Given the description of an element on the screen output the (x, y) to click on. 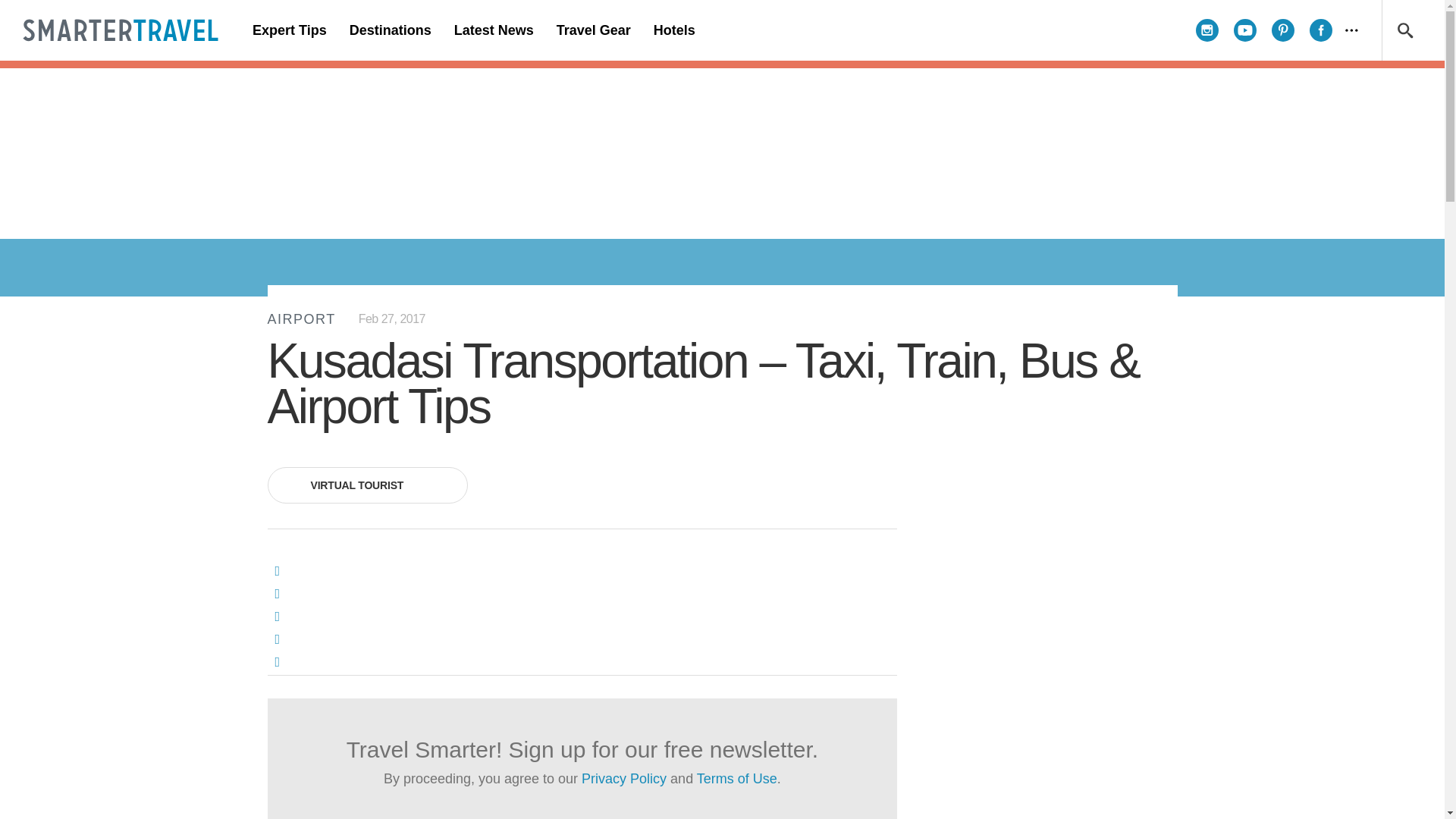
Travel Gear (593, 30)
Latest News (493, 30)
Destinations (389, 30)
Expert Tips (289, 30)
Hotels (674, 30)
